Given the description of an element on the screen output the (x, y) to click on. 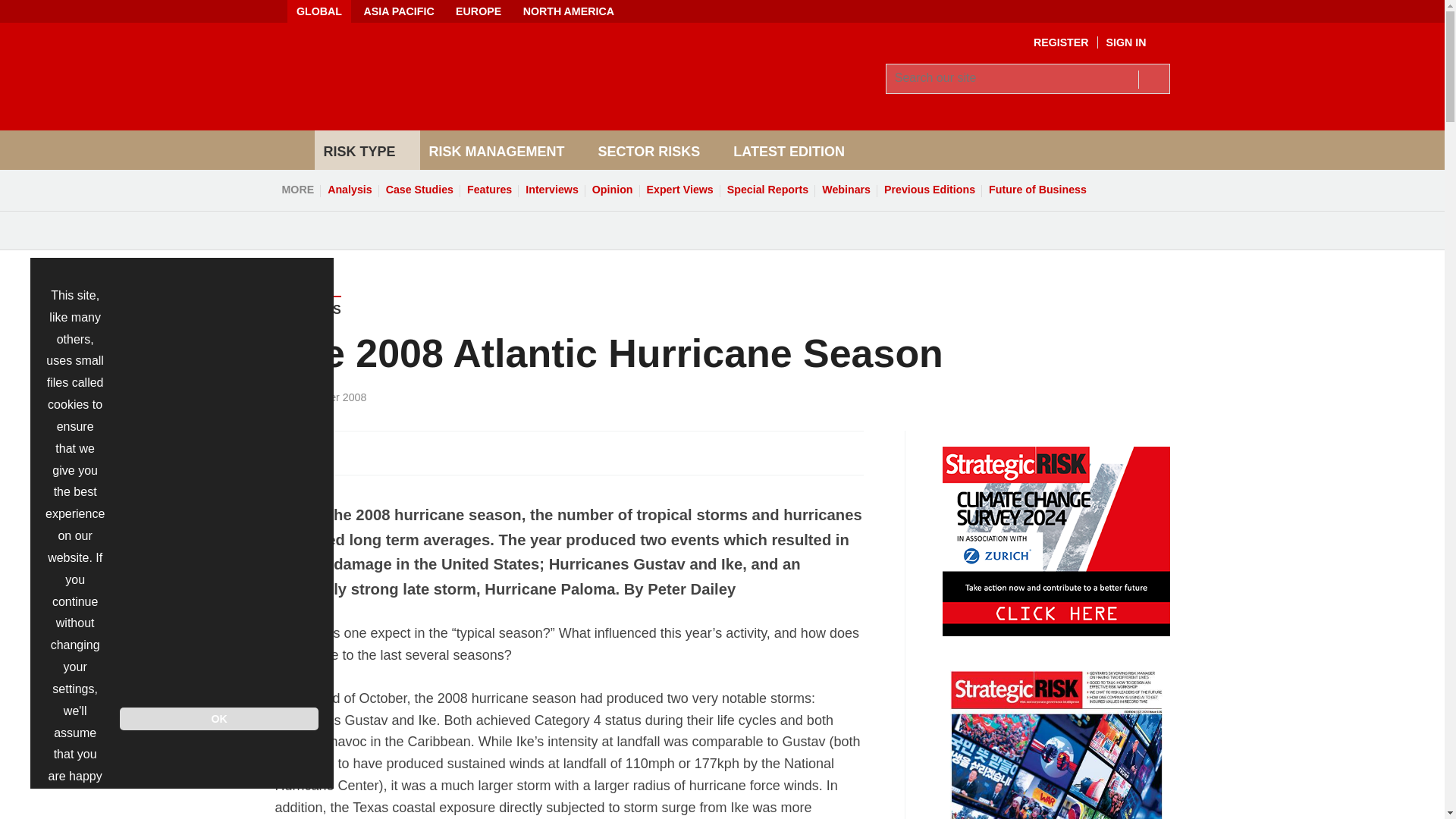
ASIA PACIFIC (397, 11)
Insert Logo text (457, 106)
Analysis (349, 189)
Email this article (386, 452)
GLOBAL (318, 11)
OK (218, 718)
Share this on Twitter (320, 452)
Share this on Facebook (288, 452)
NORTH AMERICA (568, 11)
REGISTER (1061, 42)
EUROPE (478, 11)
Expert Views (680, 189)
Features (489, 189)
SEARCH (1153, 78)
Previous Editions (929, 189)
